Given the description of an element on the screen output the (x, y) to click on. 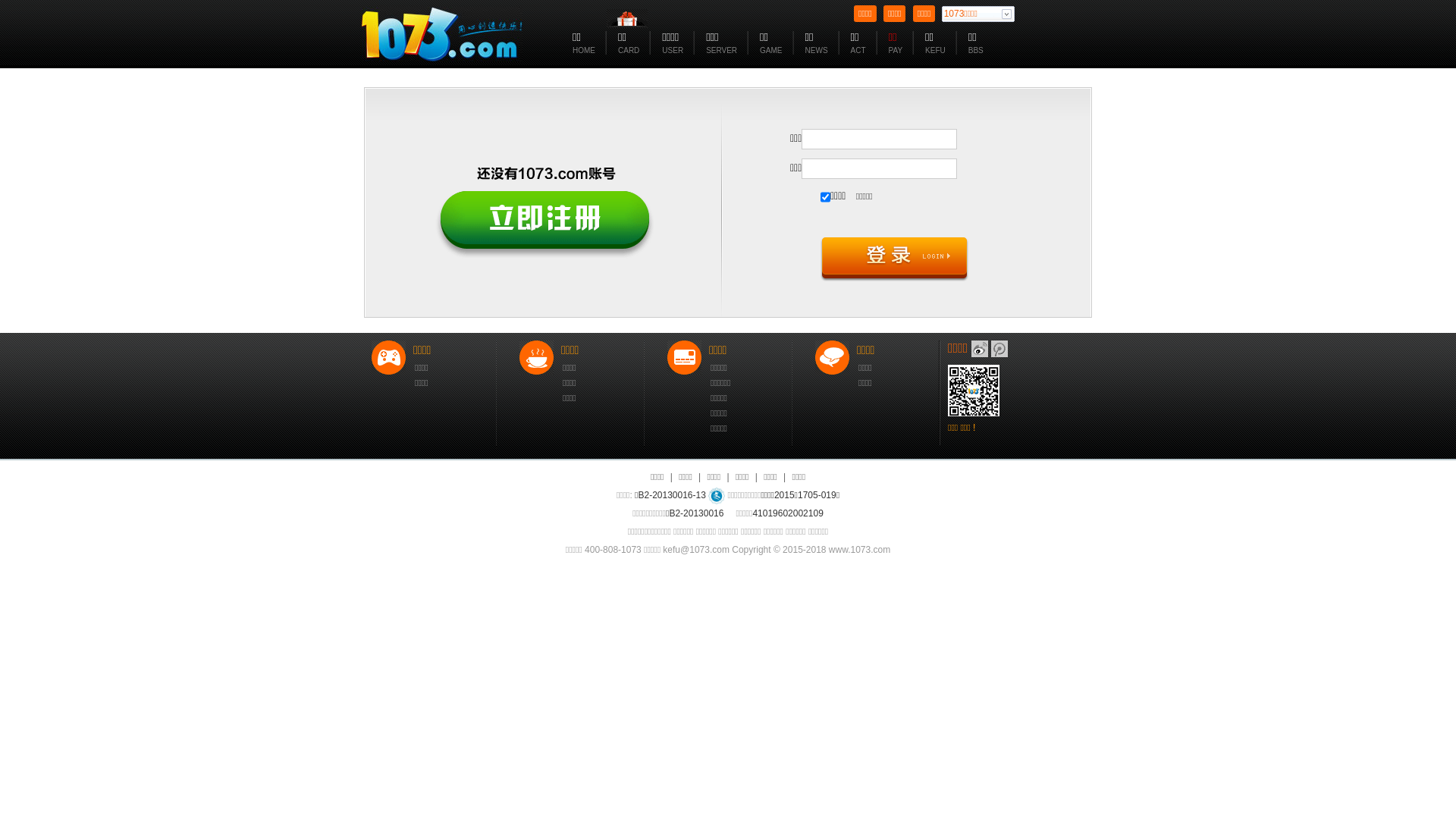
41019602002109 Element type: text (787, 513)
  Element type: text (999, 348)
  Element type: text (979, 348)
